Given the description of an element on the screen output the (x, y) to click on. 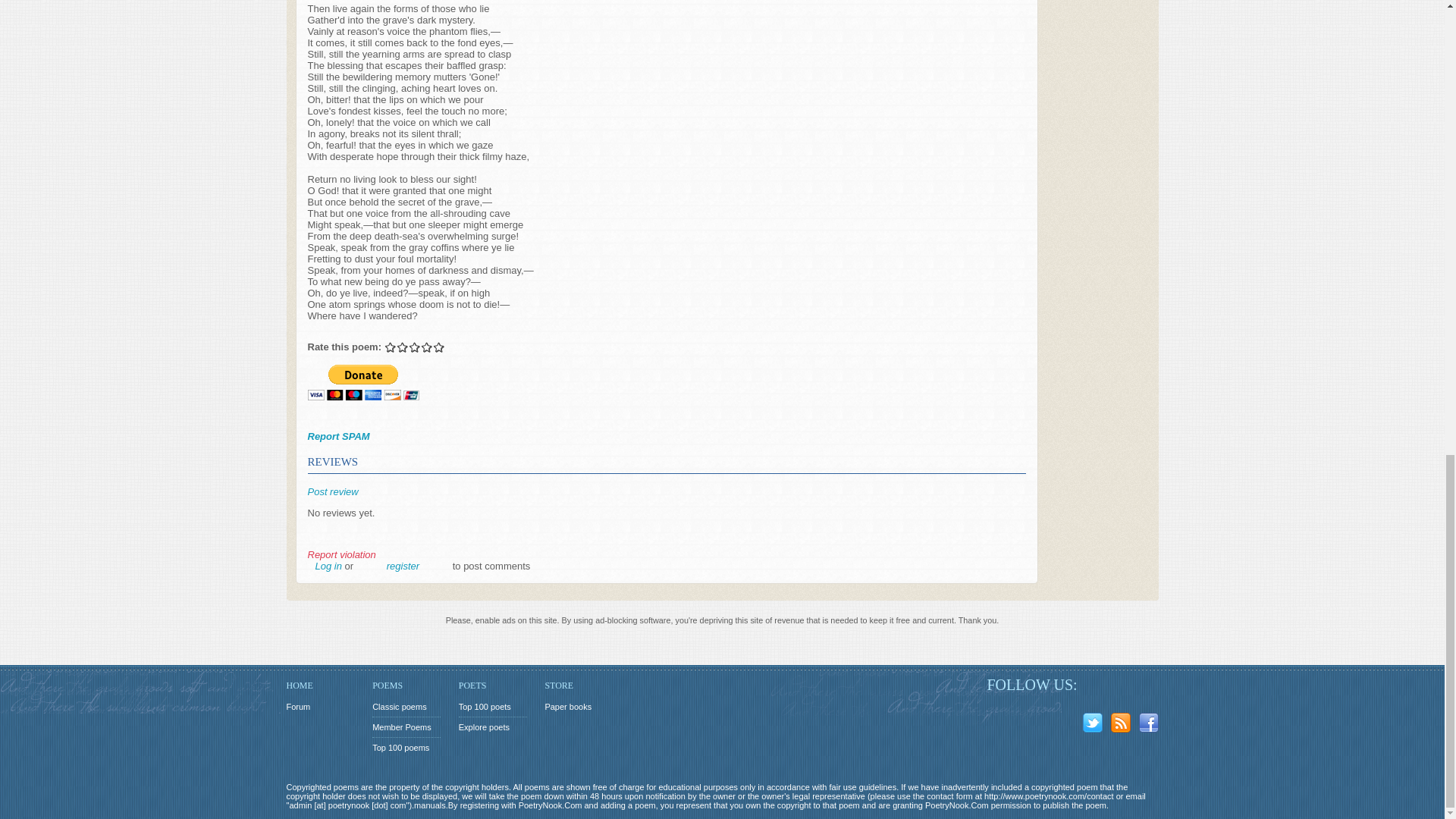
Follow Poetry Nook on Twitter (1095, 724)
Twitter (1095, 724)
Follow Poetry Nook on Facebook (1150, 724)
PayPal - The safer, easier way to pay online! (363, 382)
Classic poems (406, 706)
Follow Poetry Nook on RSS (1122, 724)
register (402, 565)
RSS (1122, 724)
POETS (492, 685)
Top 100 poets (492, 706)
Explore poets (492, 727)
Log in (328, 565)
Top 100 poems (406, 747)
STORE (578, 685)
Member Poems (406, 727)
